Given the description of an element on the screen output the (x, y) to click on. 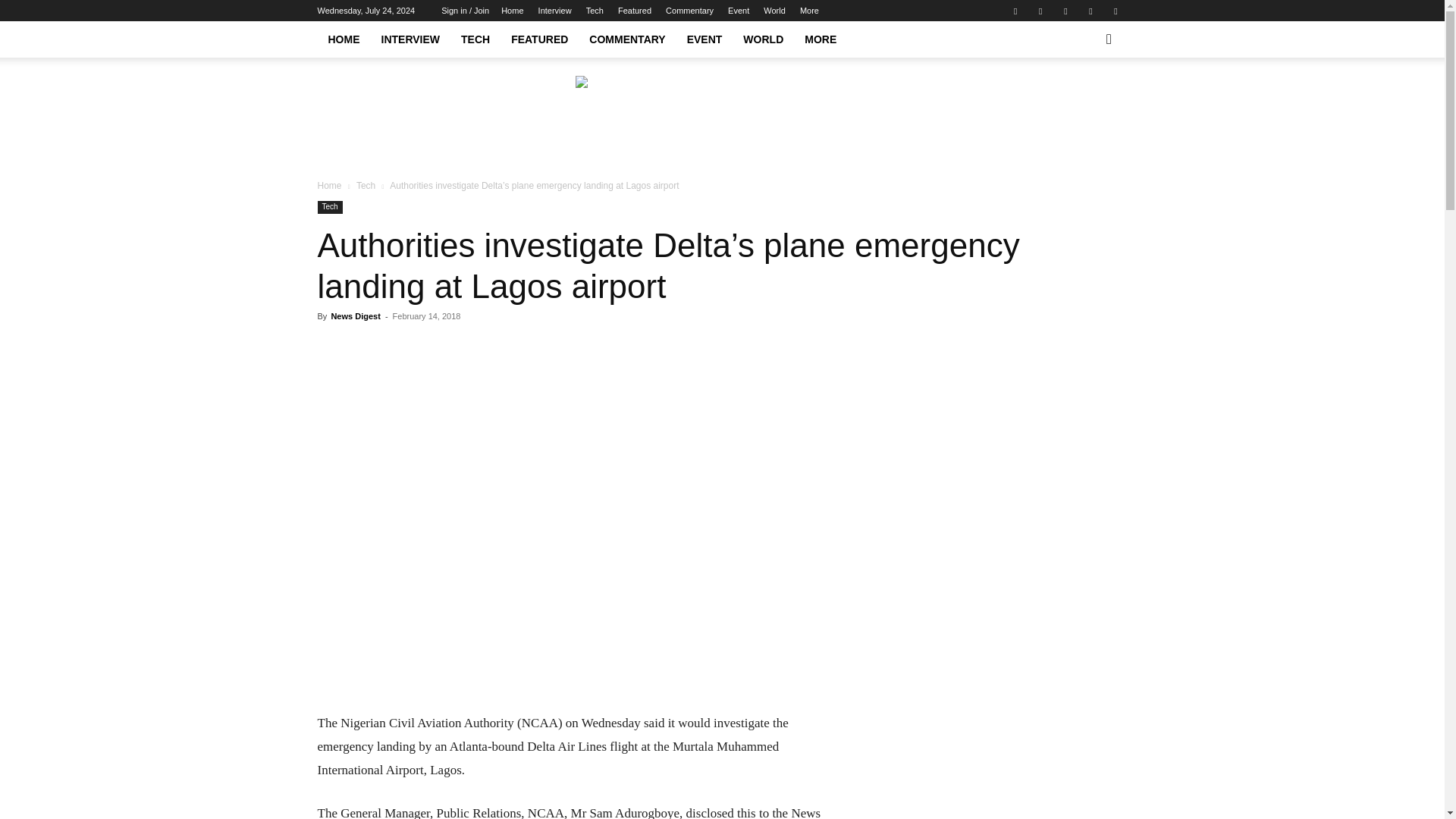
World (774, 10)
Youtube (1114, 10)
VKontakte (1090, 10)
More (808, 10)
Tech (595, 10)
View all posts in Tech (365, 185)
Facebook (1015, 10)
Twitter (1040, 10)
Featured (633, 10)
Vimeo (1065, 10)
Event (738, 10)
Home (511, 10)
Interview (555, 10)
Commentary (689, 10)
